Given the description of an element on the screen output the (x, y) to click on. 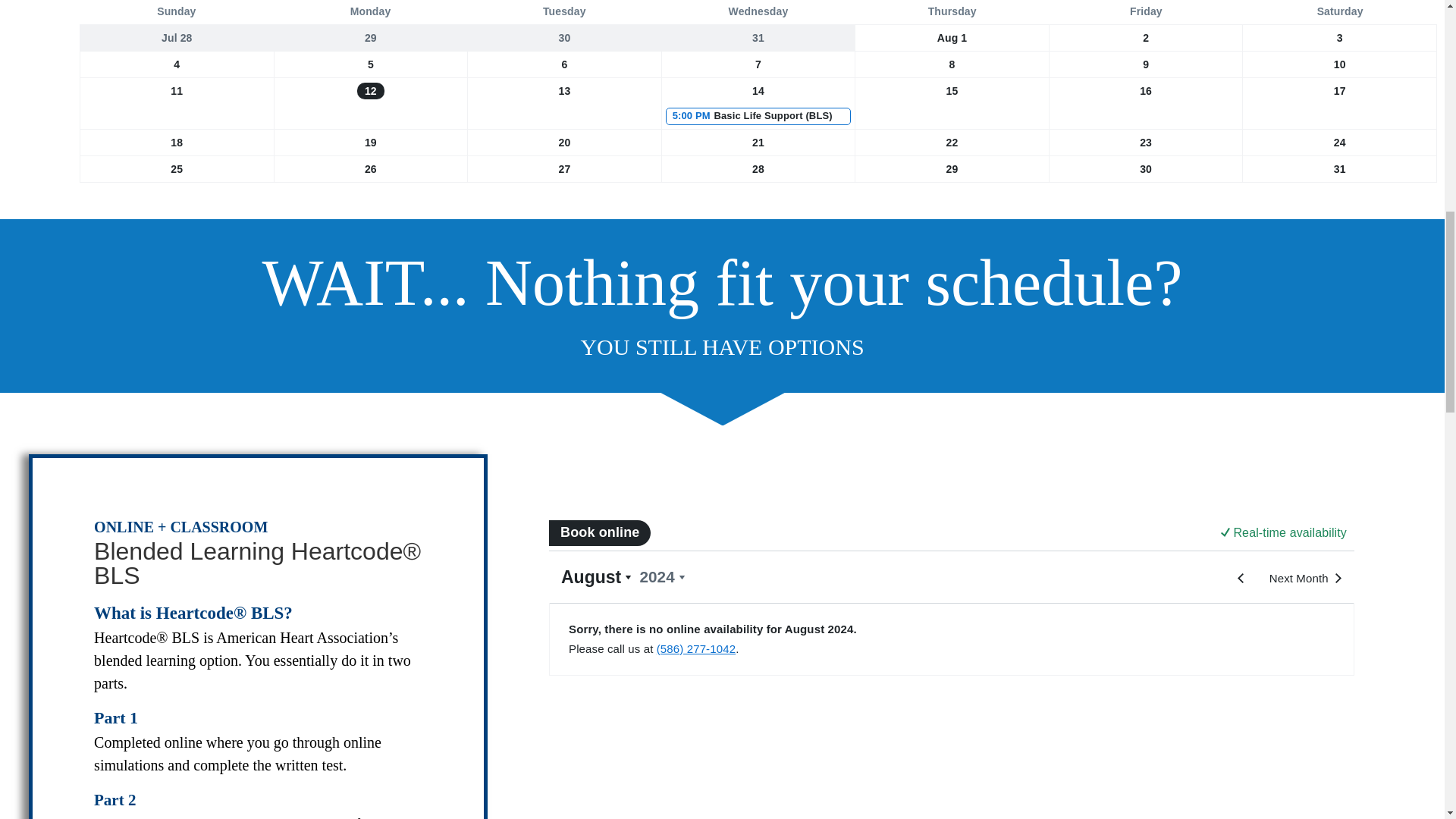
FareHarbor (1342, 64)
FareHarbor (951, 595)
